Given the description of an element on the screen output the (x, y) to click on. 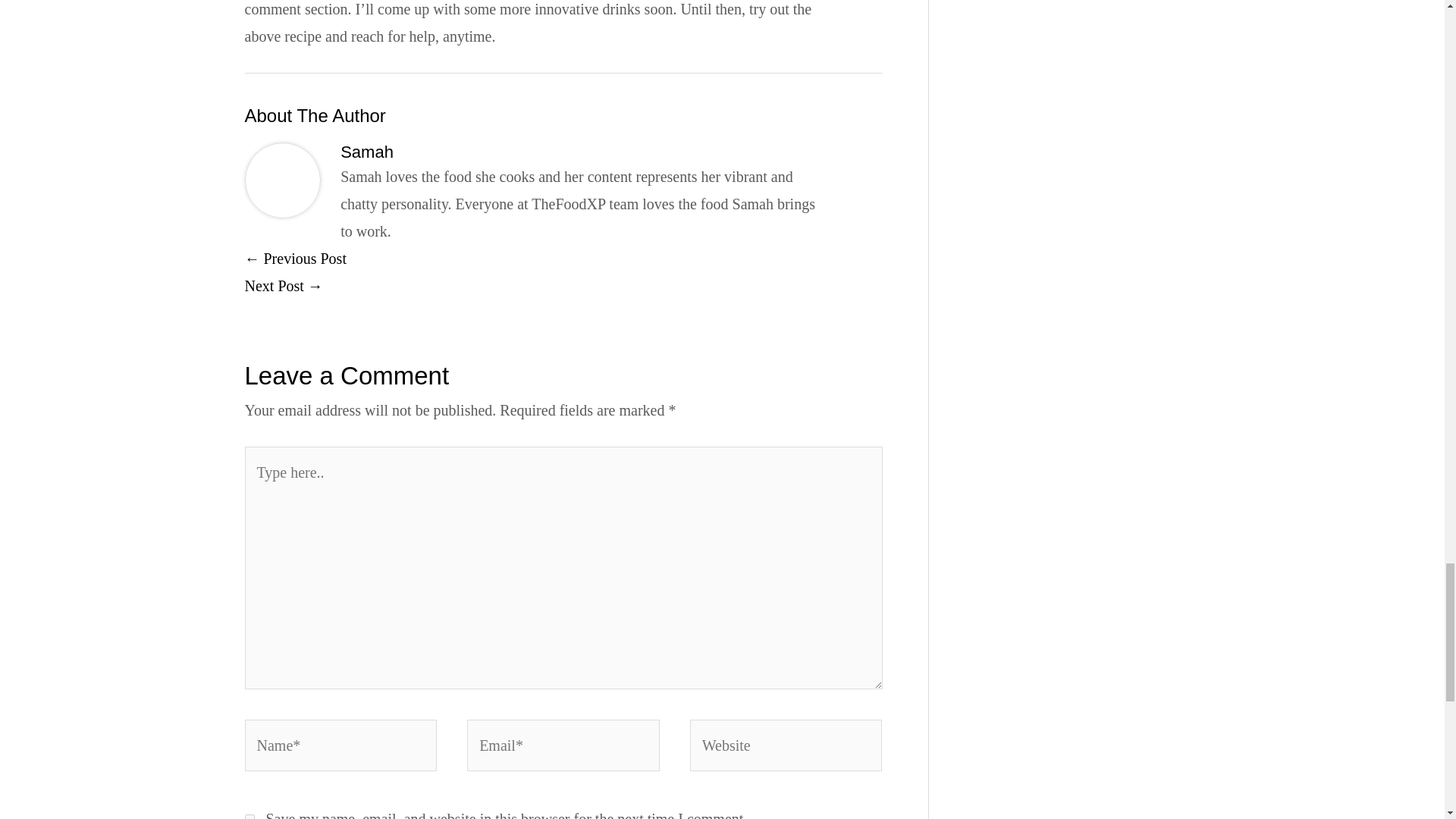
How To Make Mongolian Hot Pot At Home (282, 285)
How To Make French Bread Pizza At Home (295, 258)
yes (248, 816)
